Given the description of an element on the screen output the (x, y) to click on. 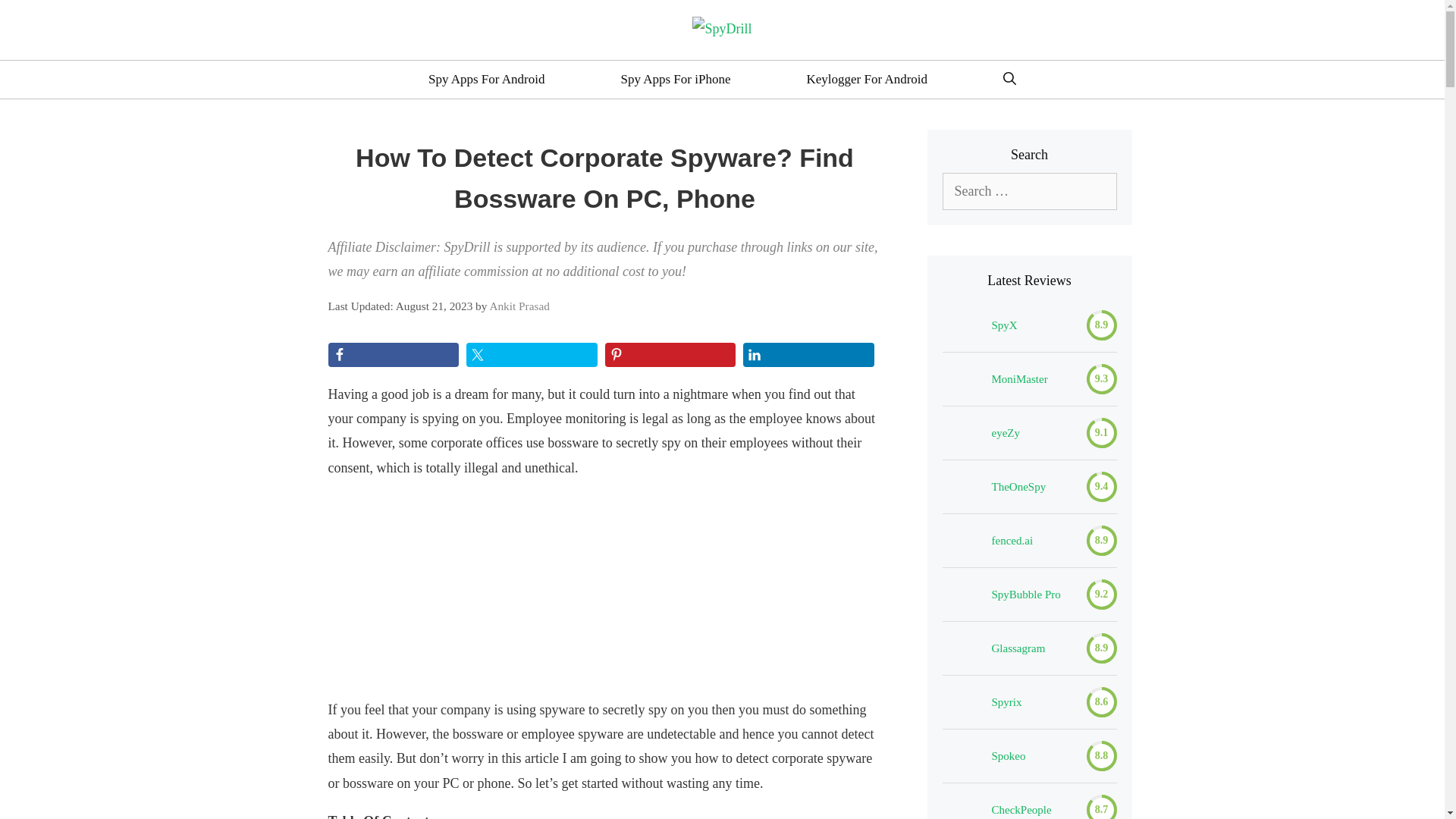
Spy Apps For iPhone (675, 79)
Share on LinkedIn (808, 354)
Share on Twitter (530, 354)
View all posts by Ankit Prasad (518, 305)
Keylogger For Android (866, 79)
MoniMaster (1019, 379)
Search for: (1029, 190)
Share on Facebook (392, 354)
Spy Apps For Android (486, 79)
Ankit Prasad (518, 305)
